Given the description of an element on the screen output the (x, y) to click on. 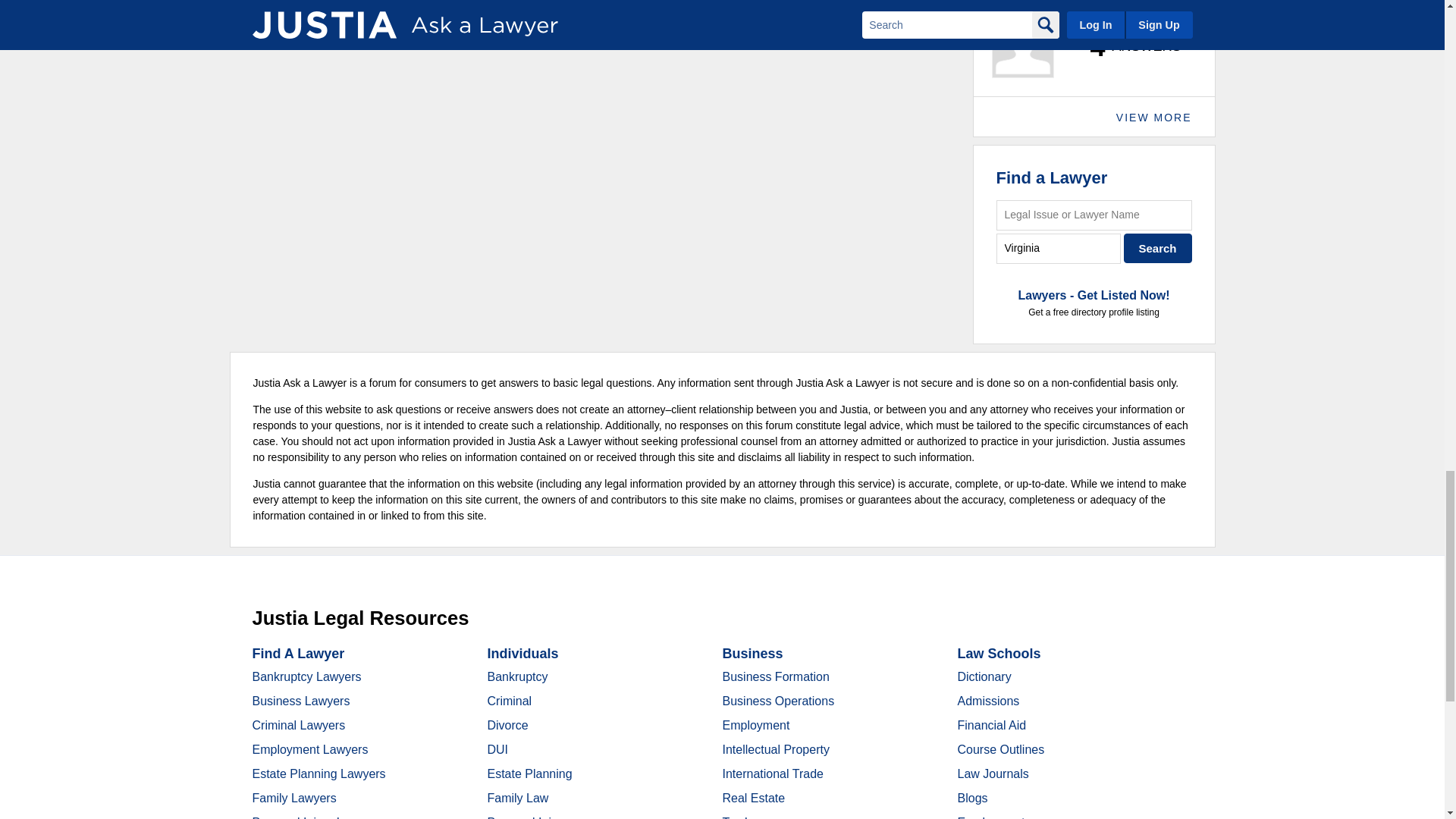
Legal Issue or Lawyer Name (1093, 214)
City, State (1058, 247)
Search (1158, 247)
Ask a Lawyer - Leaderboard - Lawyer Stats (1127, 46)
Ask a Lawyer - Leaderboard - Lawyer Photo (1021, 46)
Search (1158, 247)
Virginia (1058, 247)
Ask a Lawyer - Leaderboard - Lawyer Name (1053, 5)
